Given the description of an element on the screen output the (x, y) to click on. 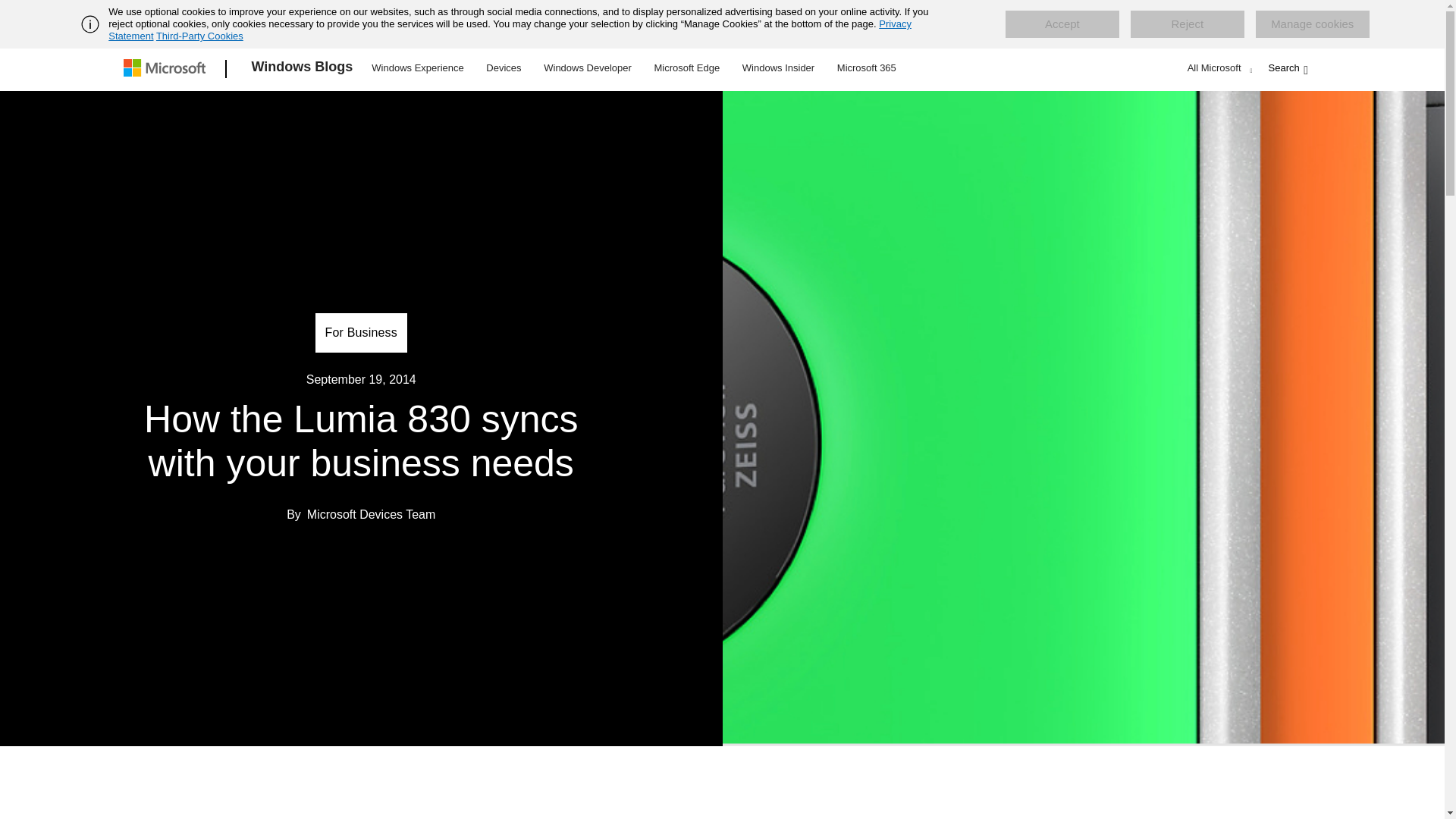
Microsoft (167, 69)
Windows Experience (417, 67)
Microsoft Edge (686, 67)
Devices (503, 67)
Windows Insider (778, 67)
Privacy Statement (509, 29)
Windows Blogs (302, 69)
Microsoft 365 (865, 67)
All Microsoft (1217, 67)
Reject (1187, 23)
